Given the description of an element on the screen output the (x, y) to click on. 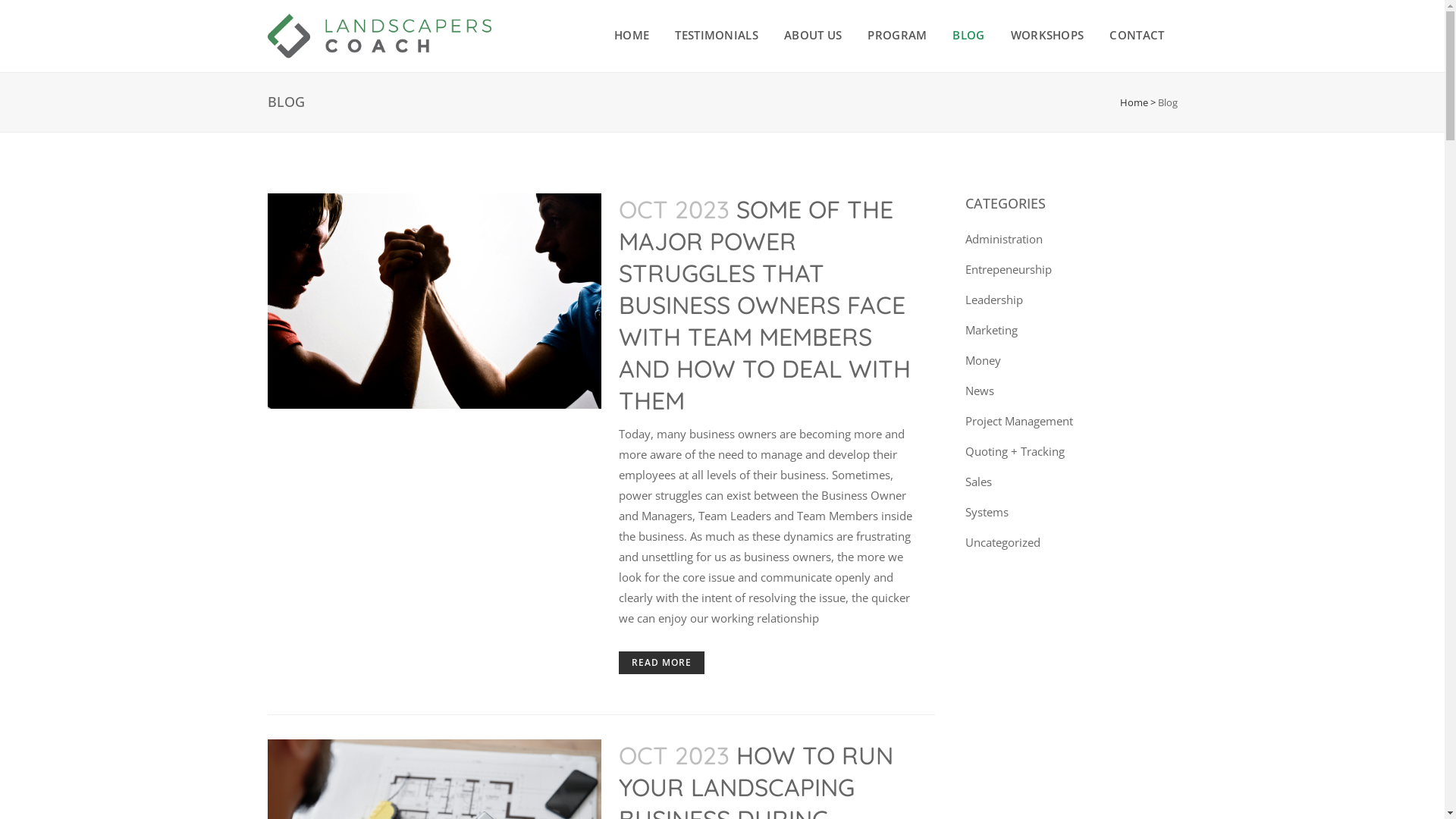
Uncategorized Element type: text (1001, 541)
Systems Element type: text (985, 511)
CONTACT Element type: text (1136, 34)
WORKSHOPS Element type: text (1047, 34)
BLOG Element type: text (968, 34)
Money Element type: text (982, 359)
Sales Element type: text (977, 481)
Home Element type: text (1133, 102)
Marketing Element type: text (990, 329)
Administration Element type: text (1002, 238)
Quoting + Tracking Element type: text (1013, 450)
News Element type: text (978, 390)
TESTIMONIALS Element type: text (716, 34)
Entrepeneurship Element type: text (1007, 268)
ABOUT US Element type: text (812, 34)
PROGRAM Element type: text (896, 34)
Project Management Element type: text (1018, 420)
READ MORE Element type: text (661, 662)
HOME Element type: text (631, 34)
Leadership Element type: text (993, 299)
